Given the description of an element on the screen output the (x, y) to click on. 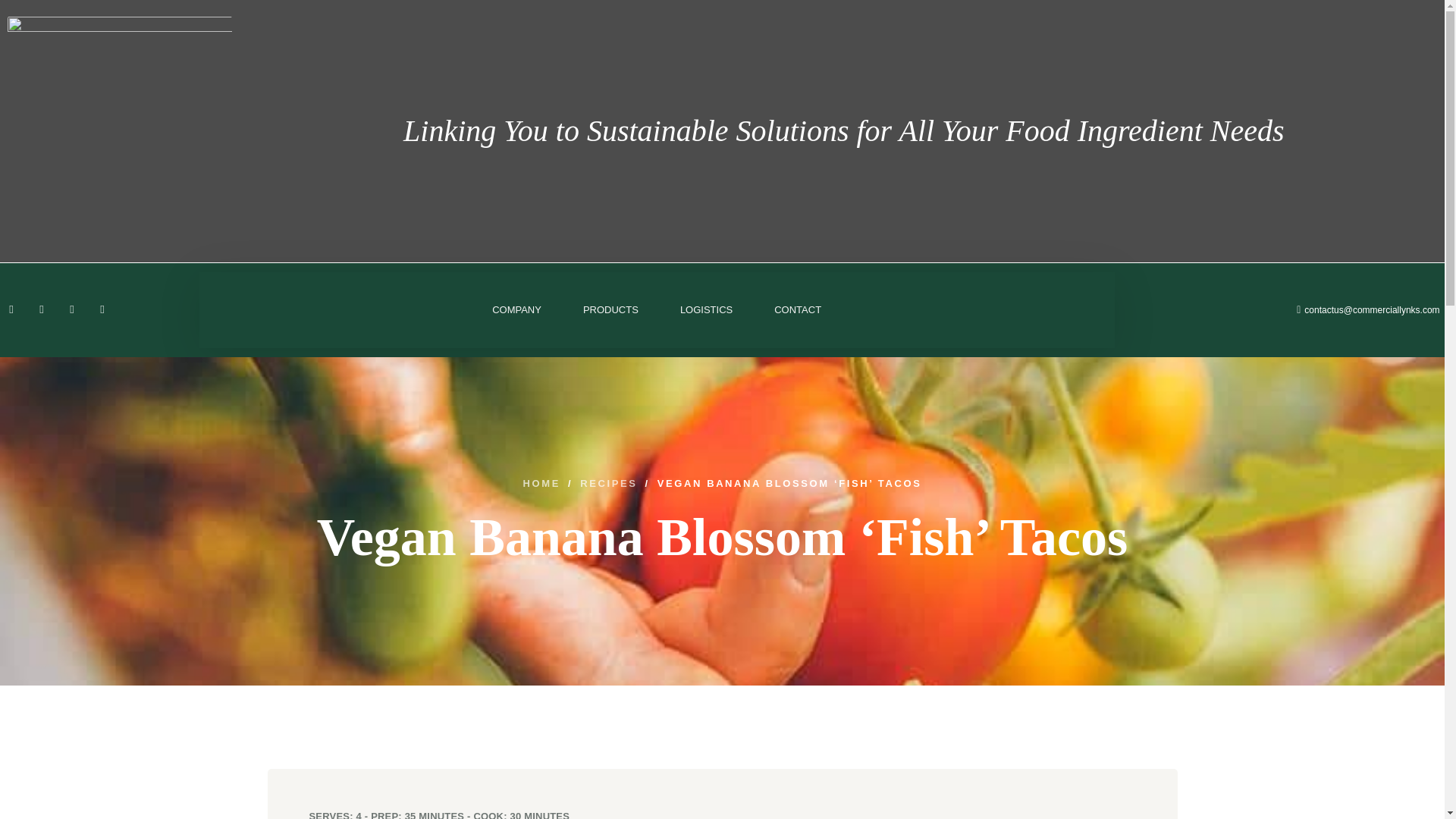
HOME (541, 483)
RECIPES (608, 483)
PRODUCTS (611, 309)
CONTACT (797, 309)
LOGISTICS (705, 309)
COMPANY (516, 309)
